Given the description of an element on the screen output the (x, y) to click on. 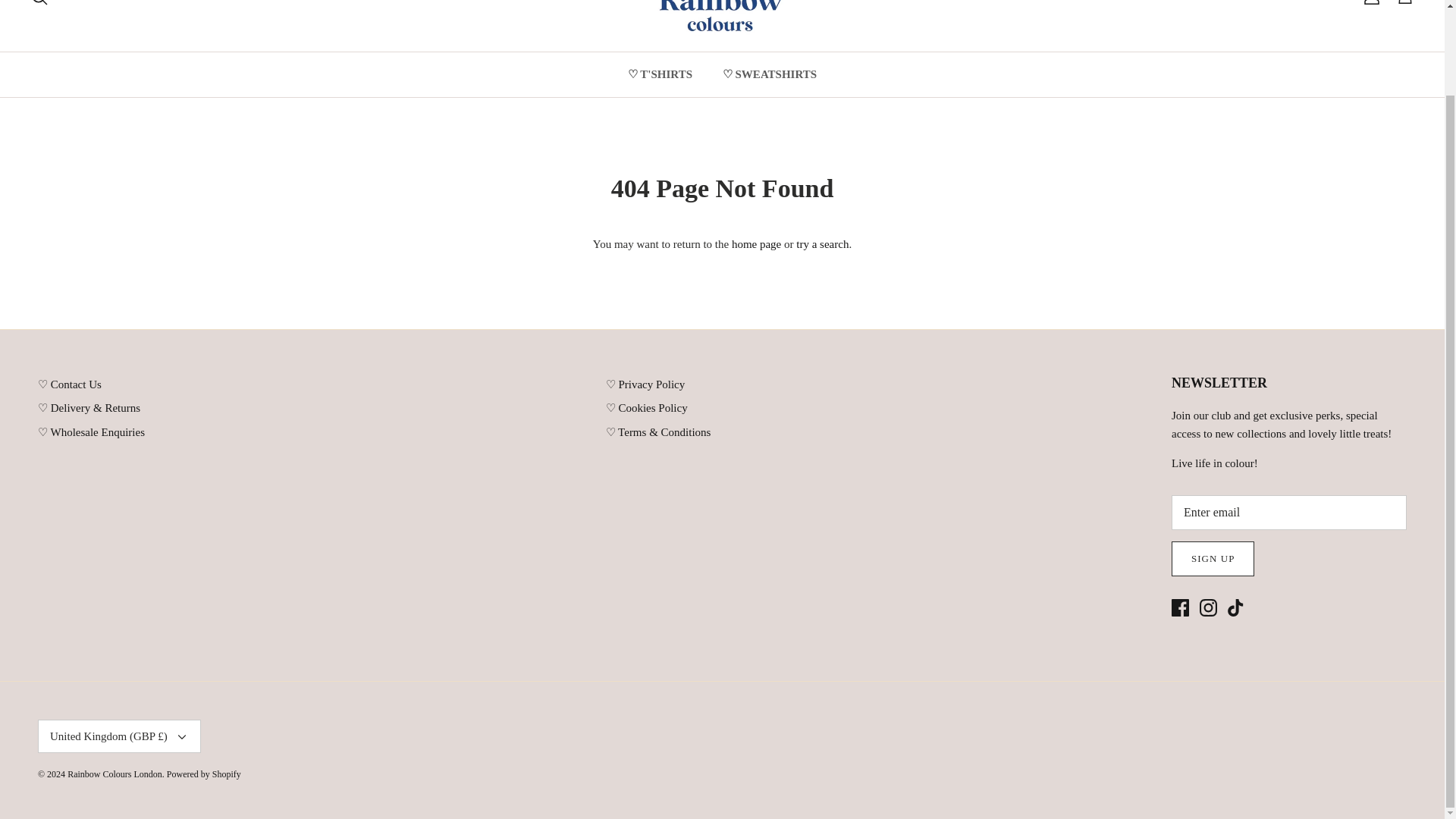
Rainbow Colours London (721, 18)
Down (181, 736)
Instagram (1208, 607)
Facebook (1180, 607)
